Given the description of an element on the screen output the (x, y) to click on. 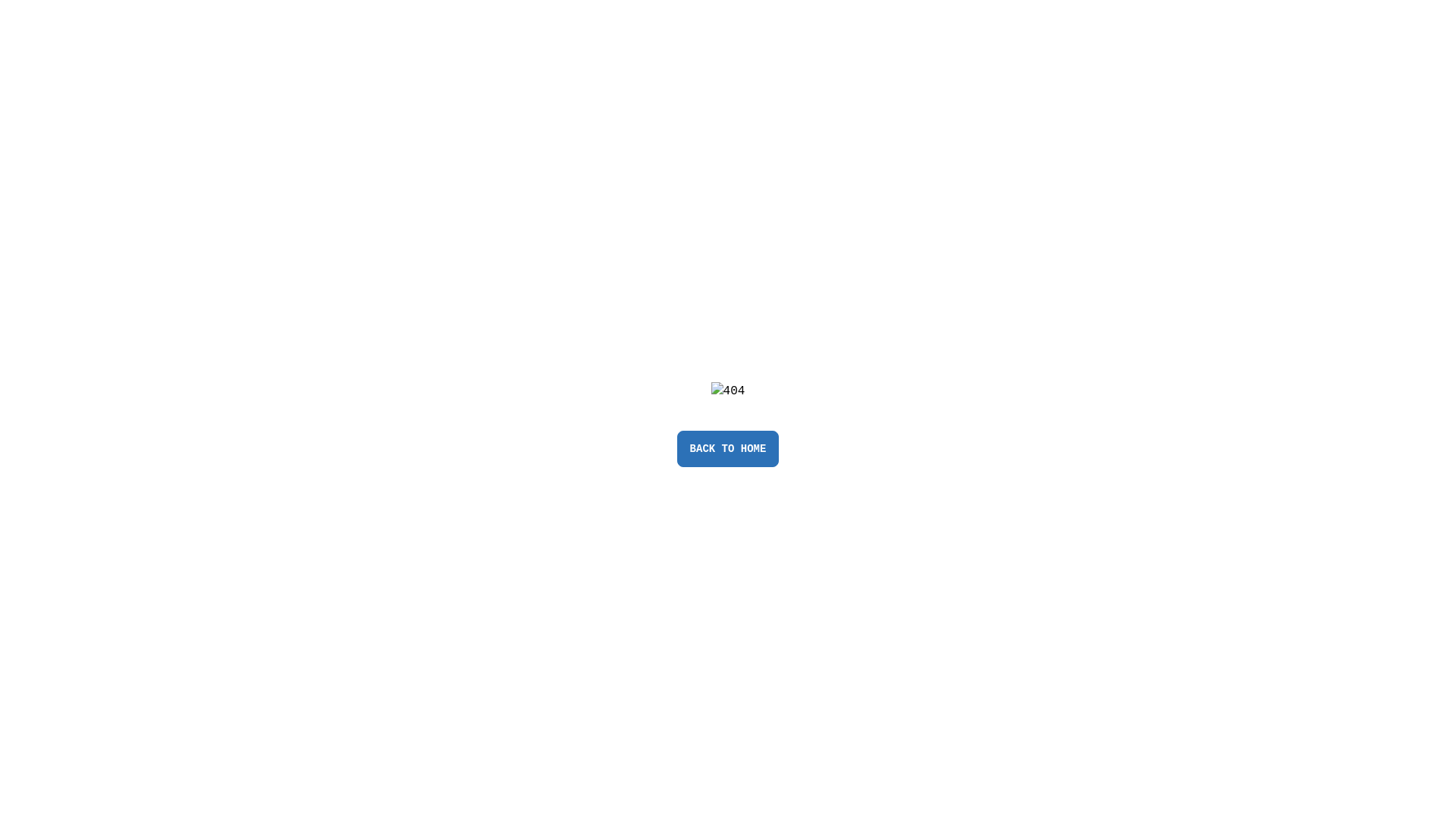
BACK TO HOME Element type: text (728, 448)
